Given the description of an element on the screen output the (x, y) to click on. 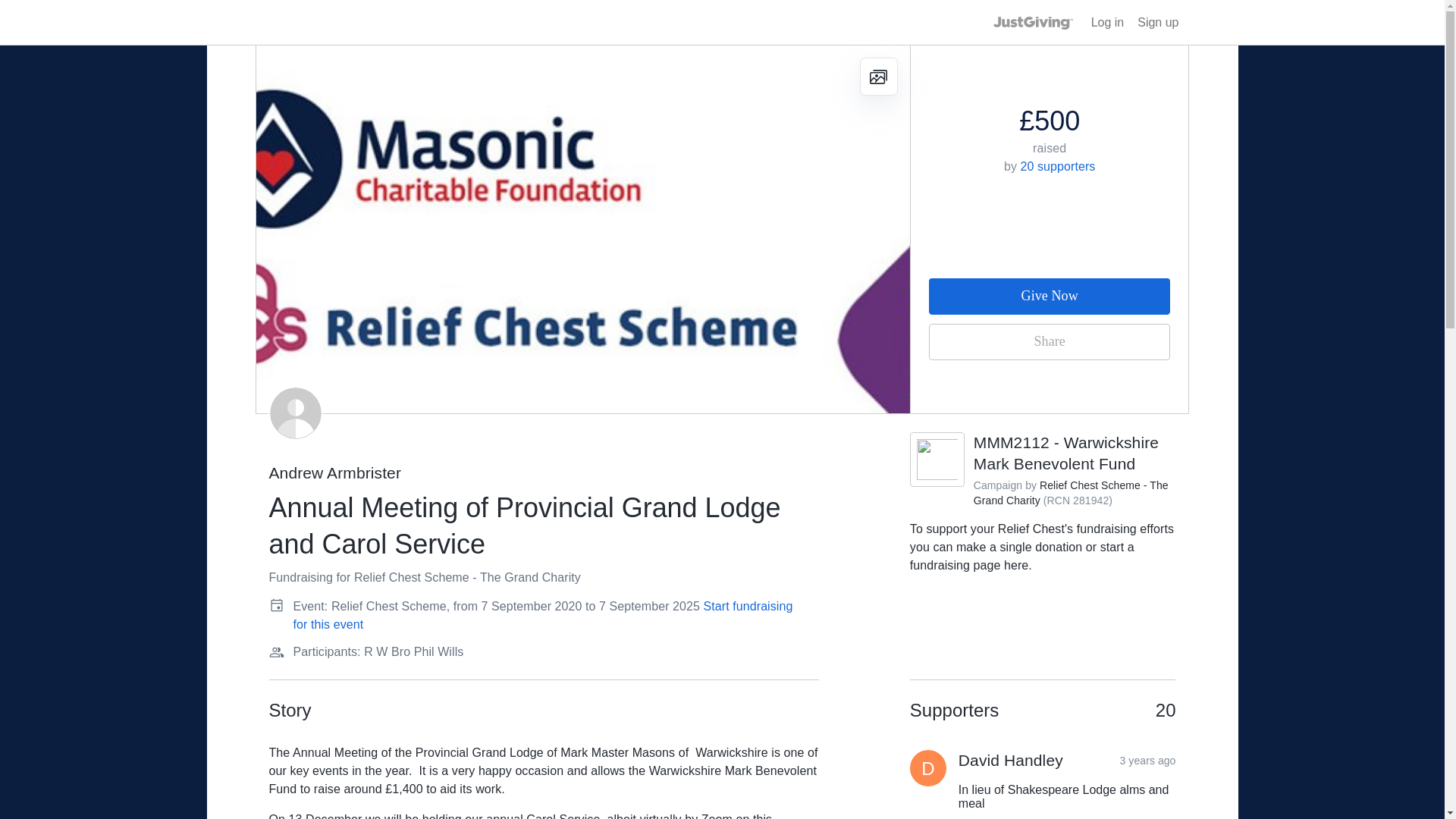
Sign up (1157, 22)
Share (1049, 341)
Give Now (1049, 296)
20 supporters (1058, 165)
Start fundraising for this event (542, 614)
MMM2112 - Warwickshire Mark Benevolent Fund (1066, 453)
D (928, 768)
Log in (1107, 22)
Relief Chest Scheme - The Grand Charity (1071, 492)
